Given the description of an element on the screen output the (x, y) to click on. 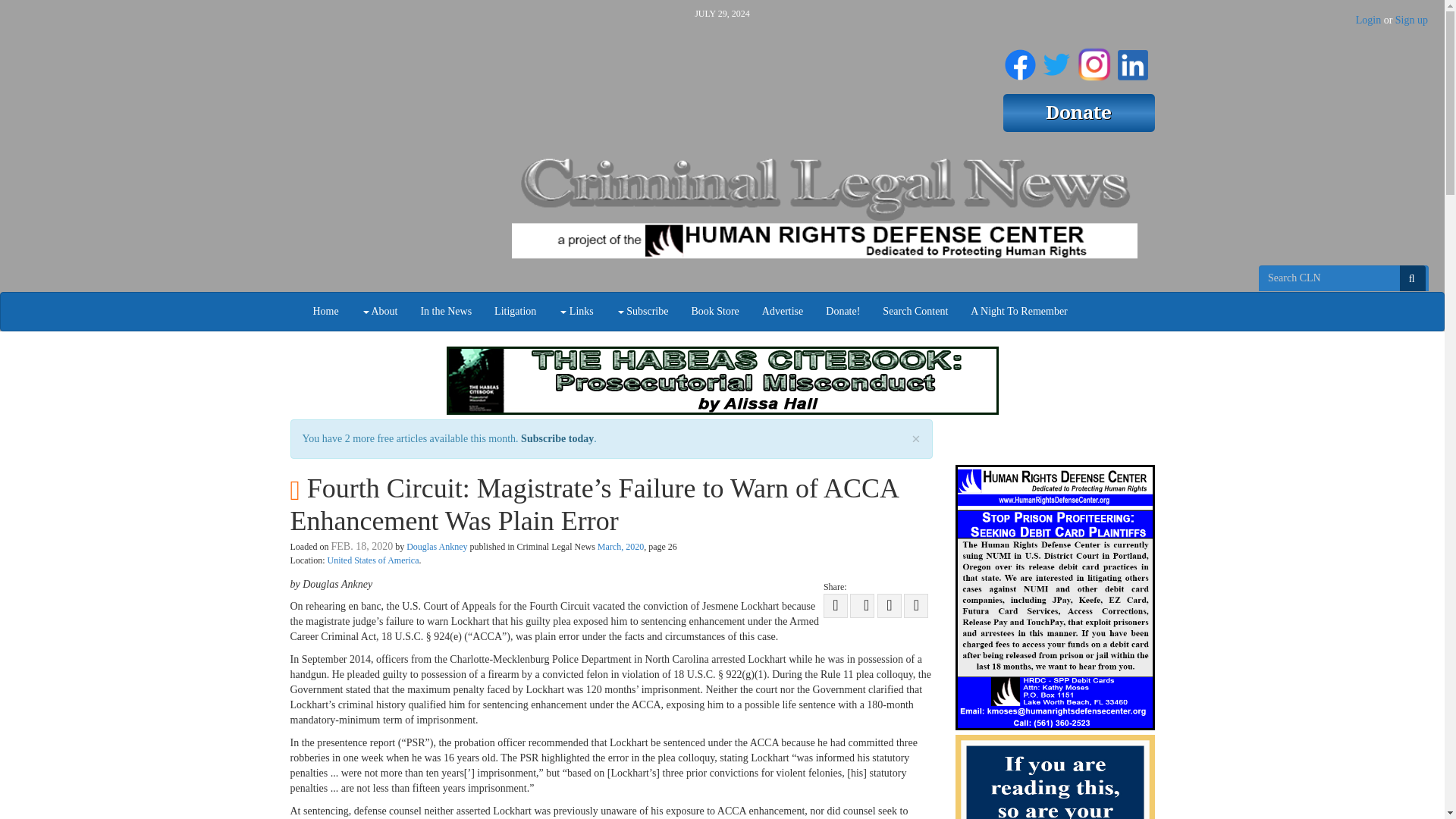
About (379, 311)
Sign up (1411, 19)
Login (1367, 19)
Subscribe today (557, 438)
Litigation (515, 311)
Search Content (914, 311)
Links (575, 311)
Book Store (714, 311)
Advertise (782, 311)
In the News (446, 311)
Subscribe (642, 311)
Search (1412, 278)
Donate! (841, 311)
A Night To Remember (1018, 311)
Home (325, 311)
